Given the description of an element on the screen output the (x, y) to click on. 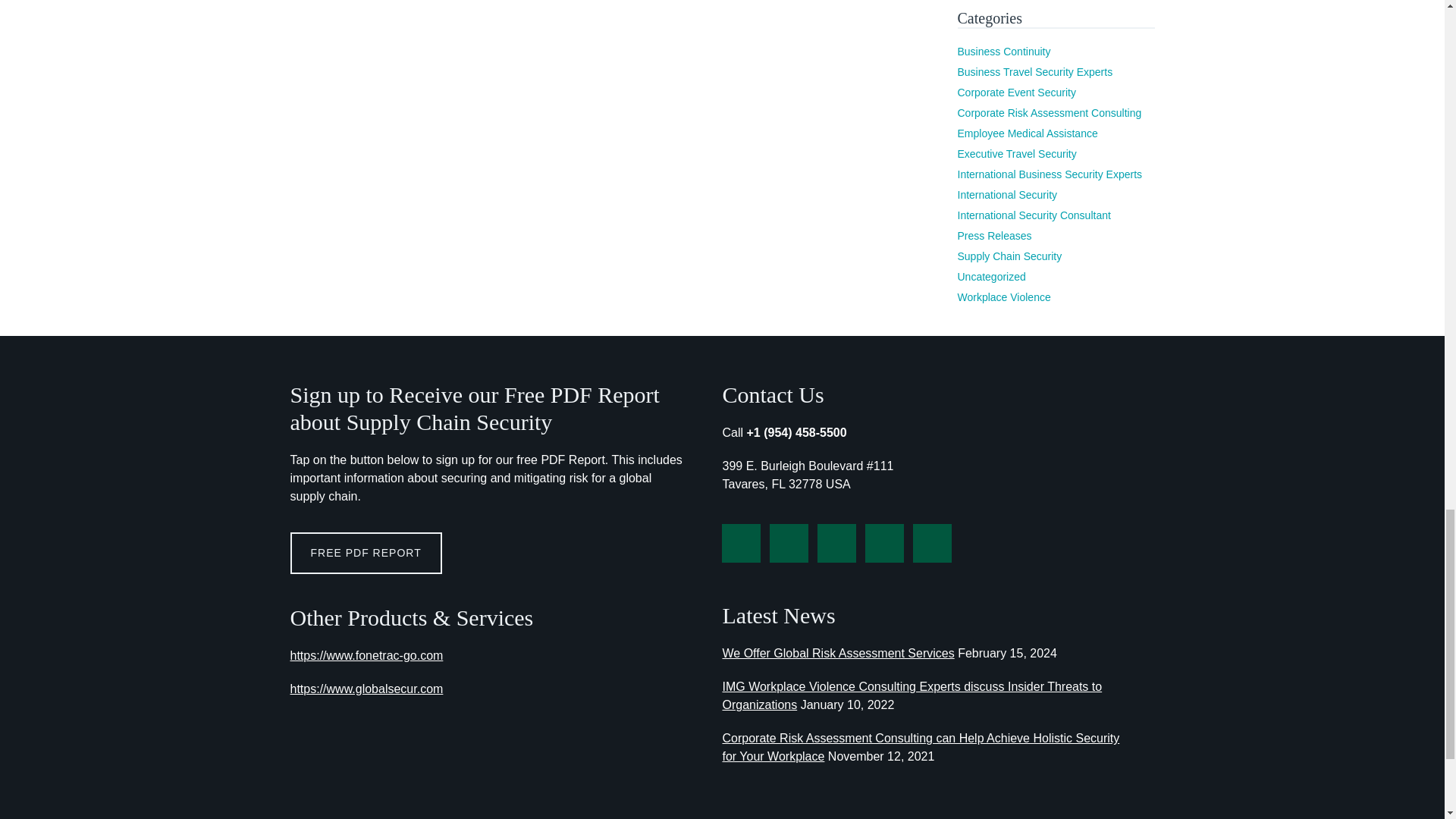
Call 954-458-5500 (803, 431)
FoneTrac for Individuals (365, 655)
IMG GlobalSecur Travel Security Services (365, 688)
